Given the description of an element on the screen output the (x, y) to click on. 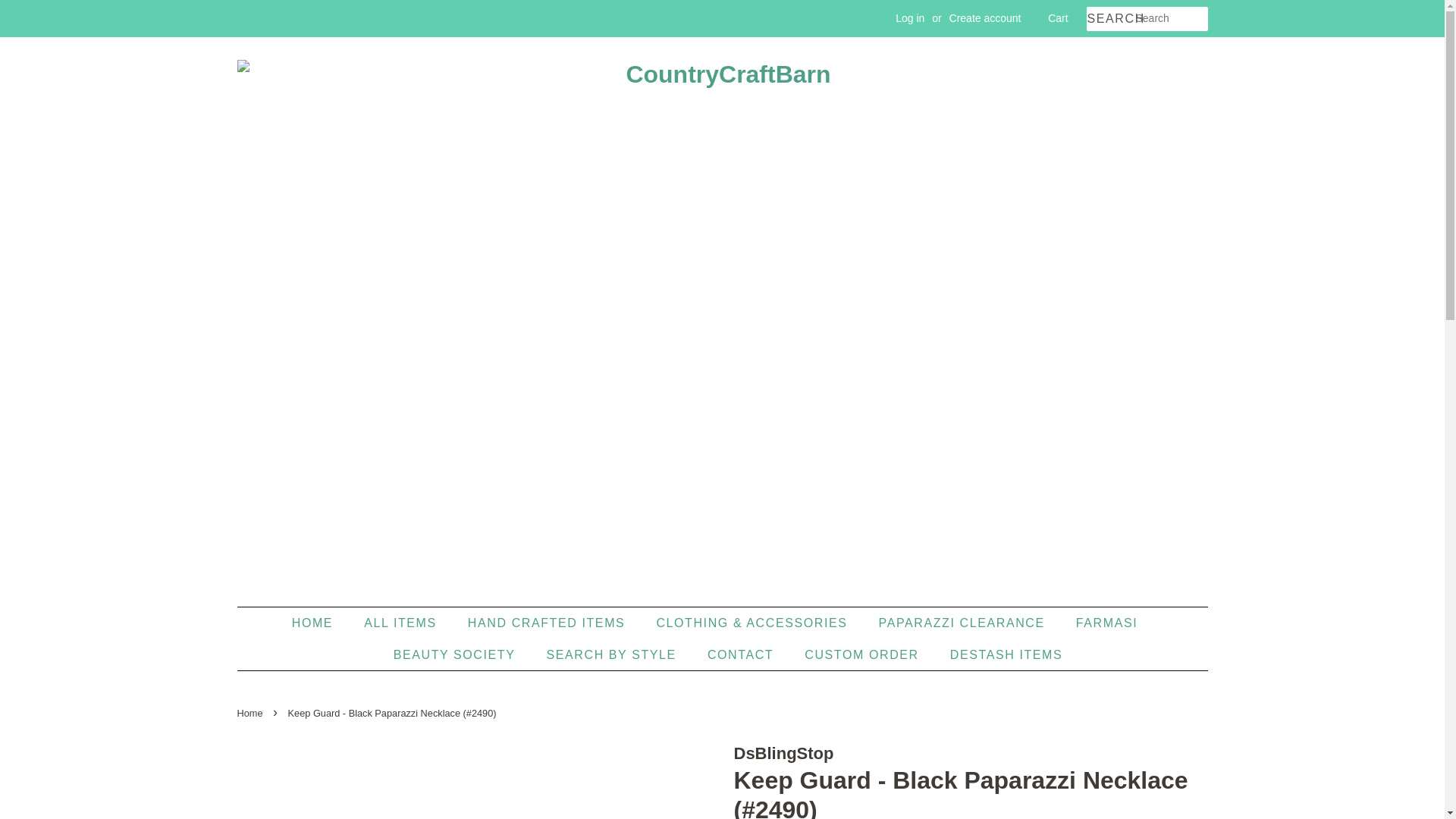
SEARCH (1110, 18)
Create account (985, 18)
Log in (909, 18)
Back to the frontpage (250, 713)
Cart (1057, 18)
